Given the description of an element on the screen output the (x, y) to click on. 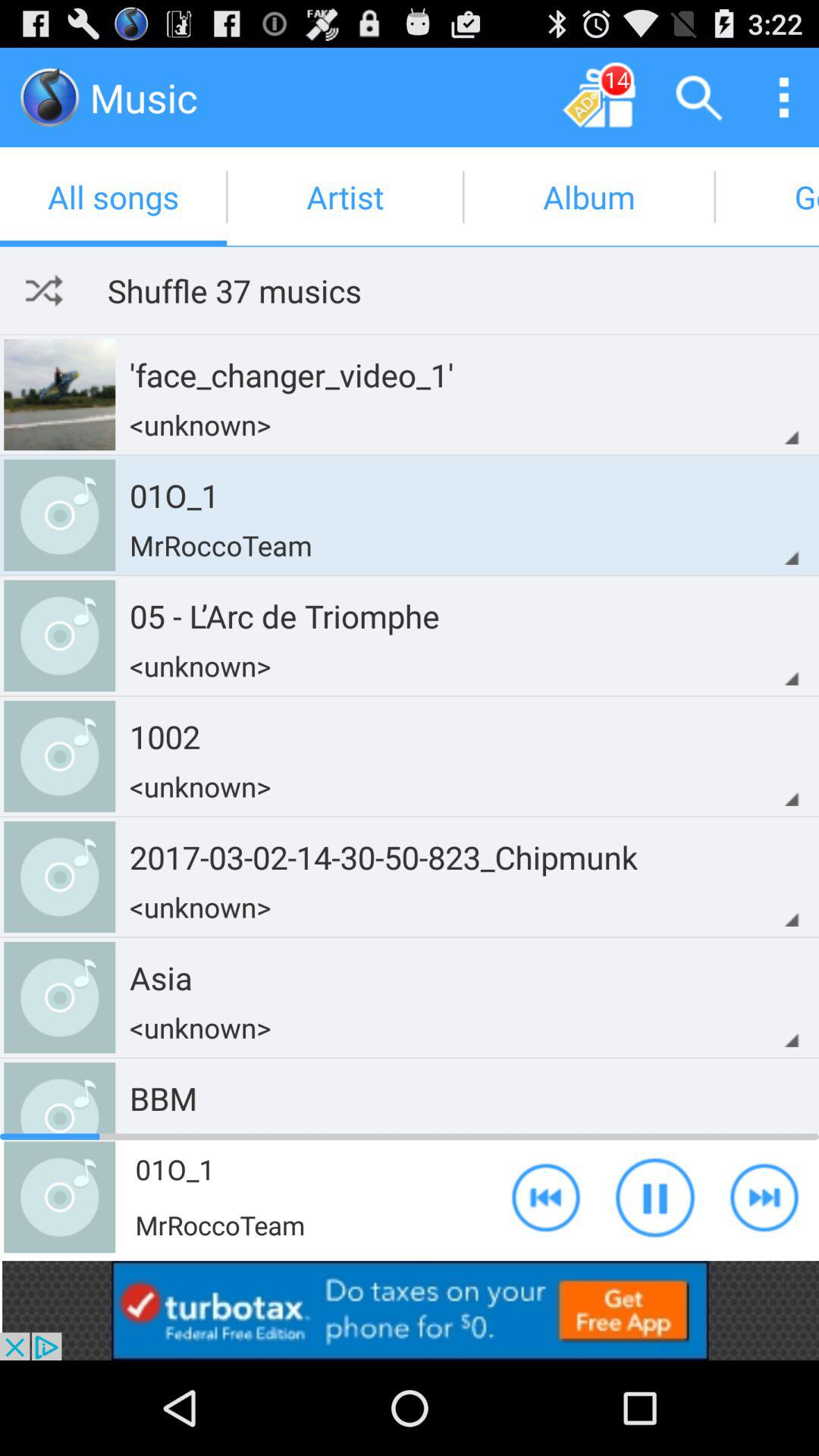
rewind music (545, 1196)
